Given the description of an element on the screen output the (x, y) to click on. 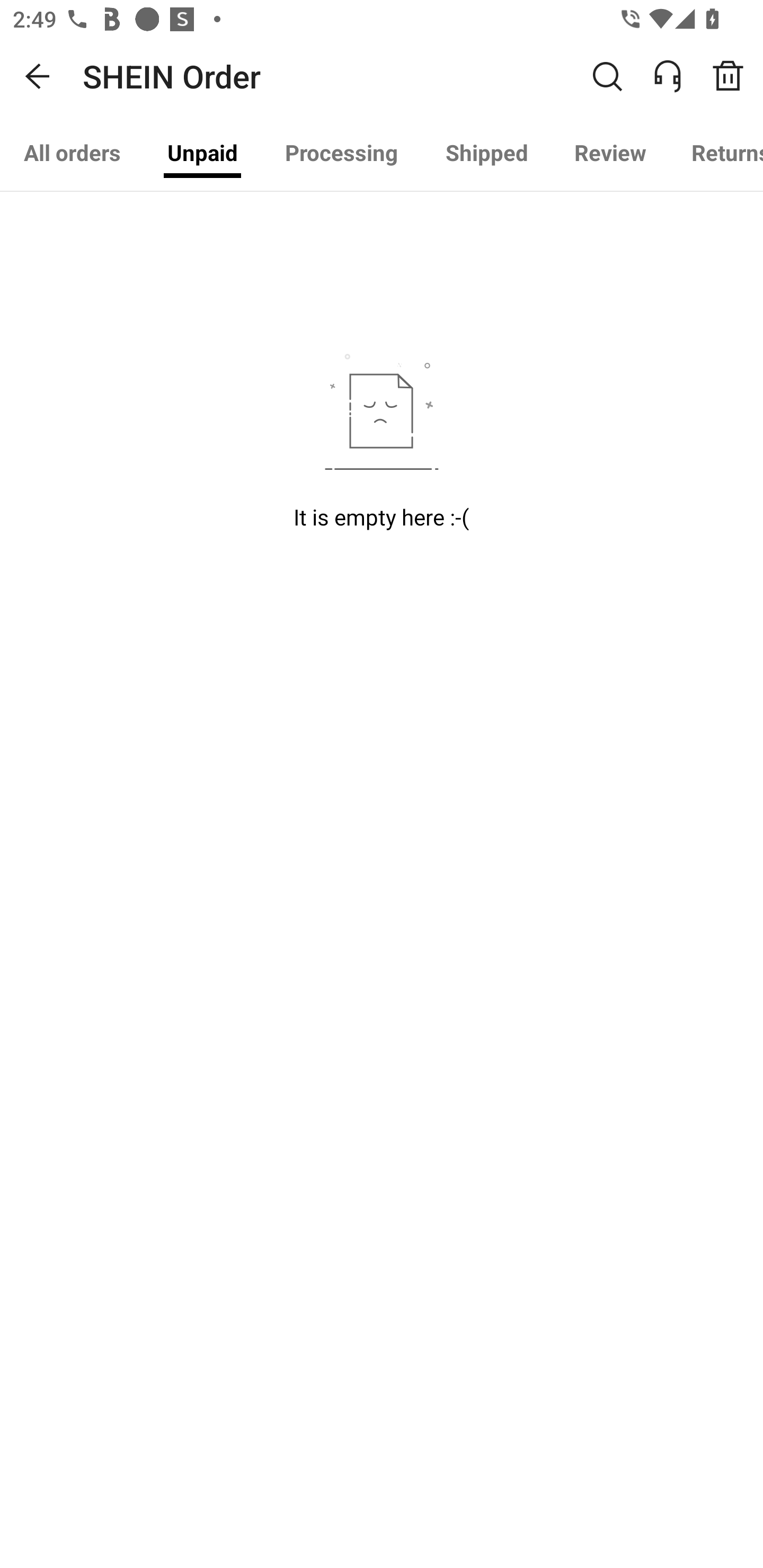
Navigate up (38, 75)
Search (607, 75)
ONLINE SERVICE (676, 75)
Order Recycle Bin (734, 75)
All orders (72, 152)
Unpaid (202, 152)
Processing (341, 152)
Shipped (486, 152)
Review (609, 152)
Returns (715, 152)
